Given the description of an element on the screen output the (x, y) to click on. 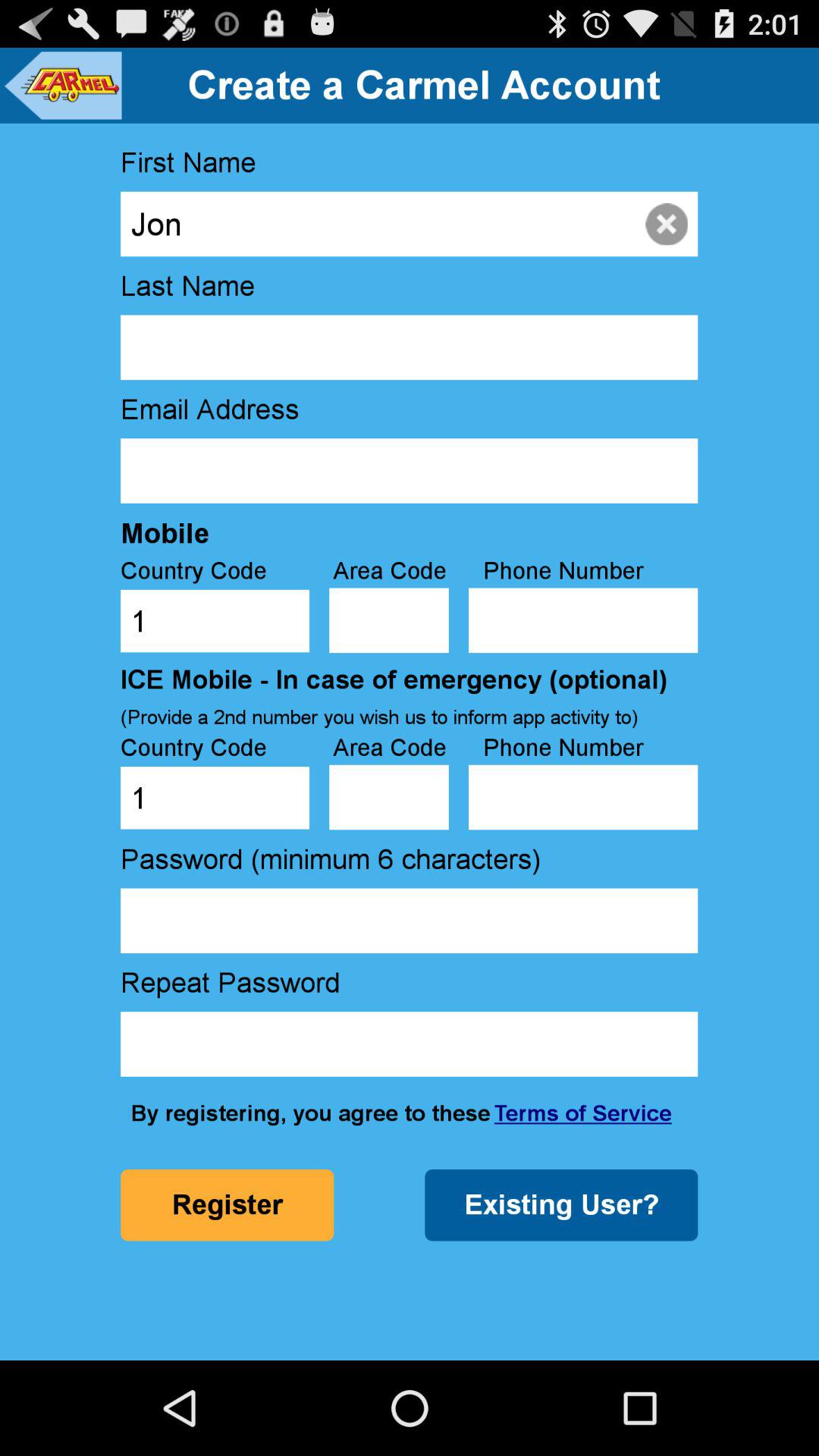
click the item at the top left corner (61, 85)
